Given the description of an element on the screen output the (x, y) to click on. 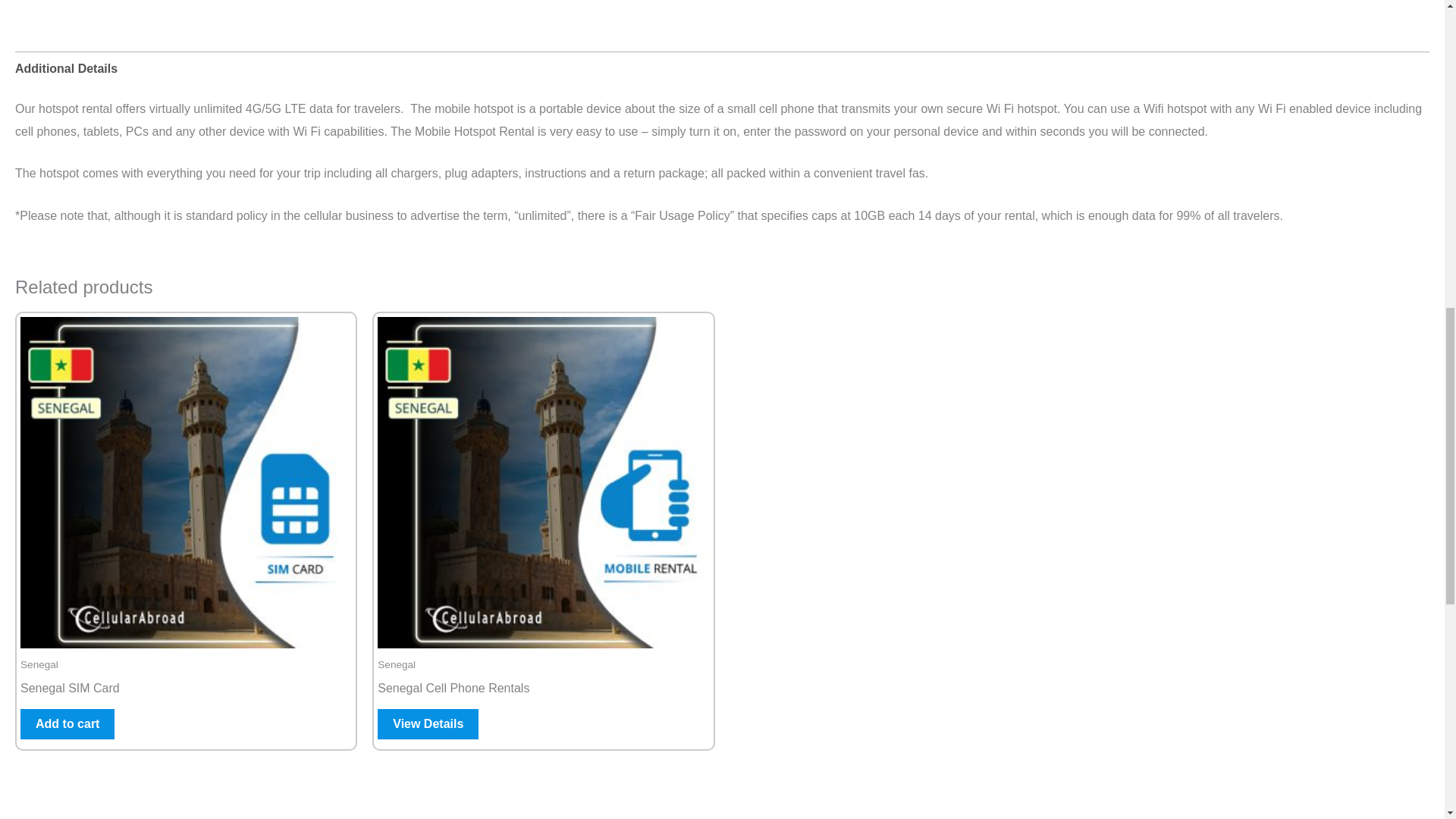
Add to cart (67, 723)
Senegal Cell Phone Rentals (543, 691)
Additional Details (65, 68)
Senegal SIM Card (186, 691)
View Details (428, 723)
